Given the description of an element on the screen output the (x, y) to click on. 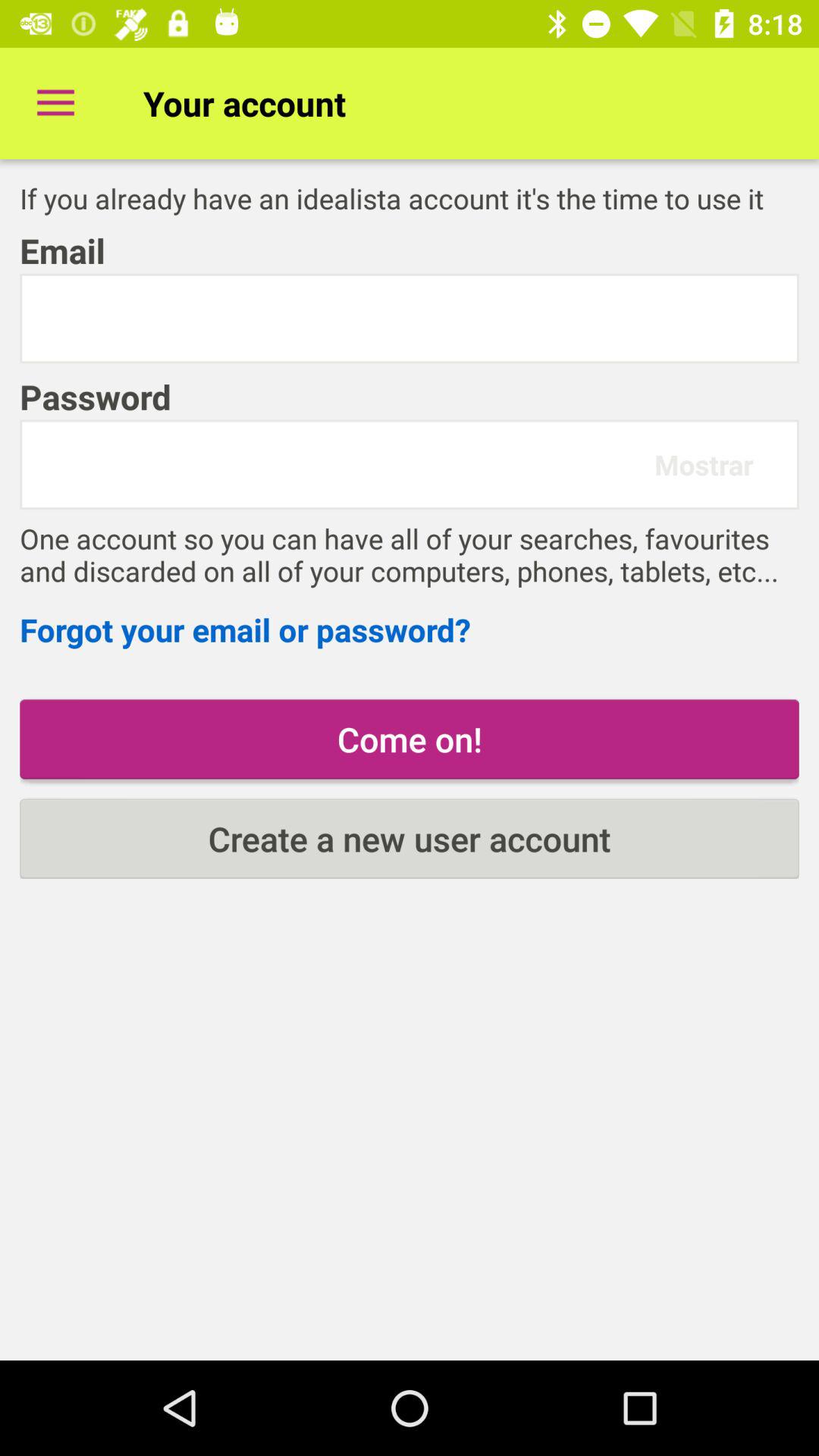
toggle security option (409, 318)
